Given the description of an element on the screen output the (x, y) to click on. 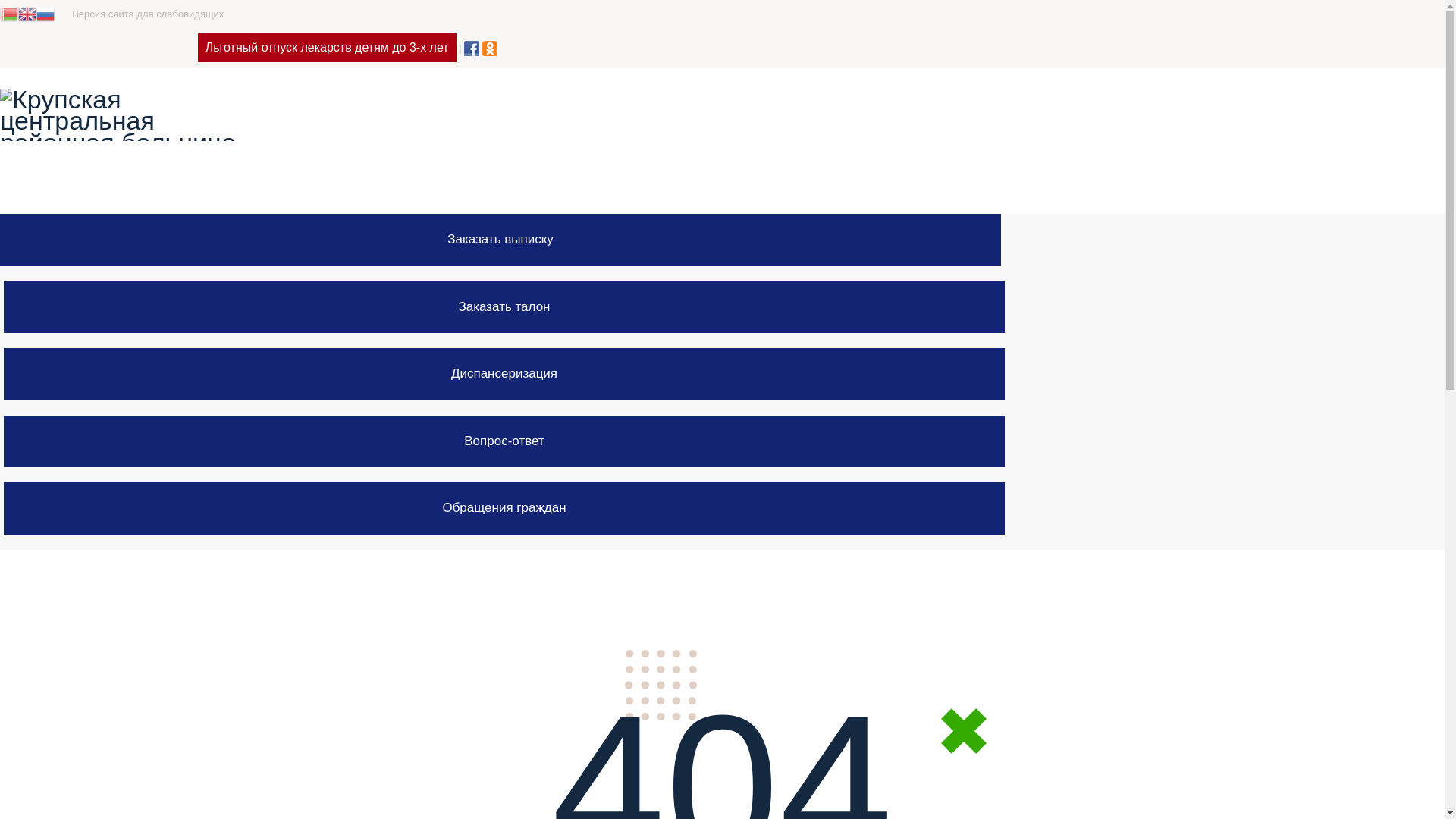
English Element type: hover (27, 12)
Belarusian Element type: hover (9, 12)
Russian Element type: hover (45, 12)
